Given the description of an element on the screen output the (x, y) to click on. 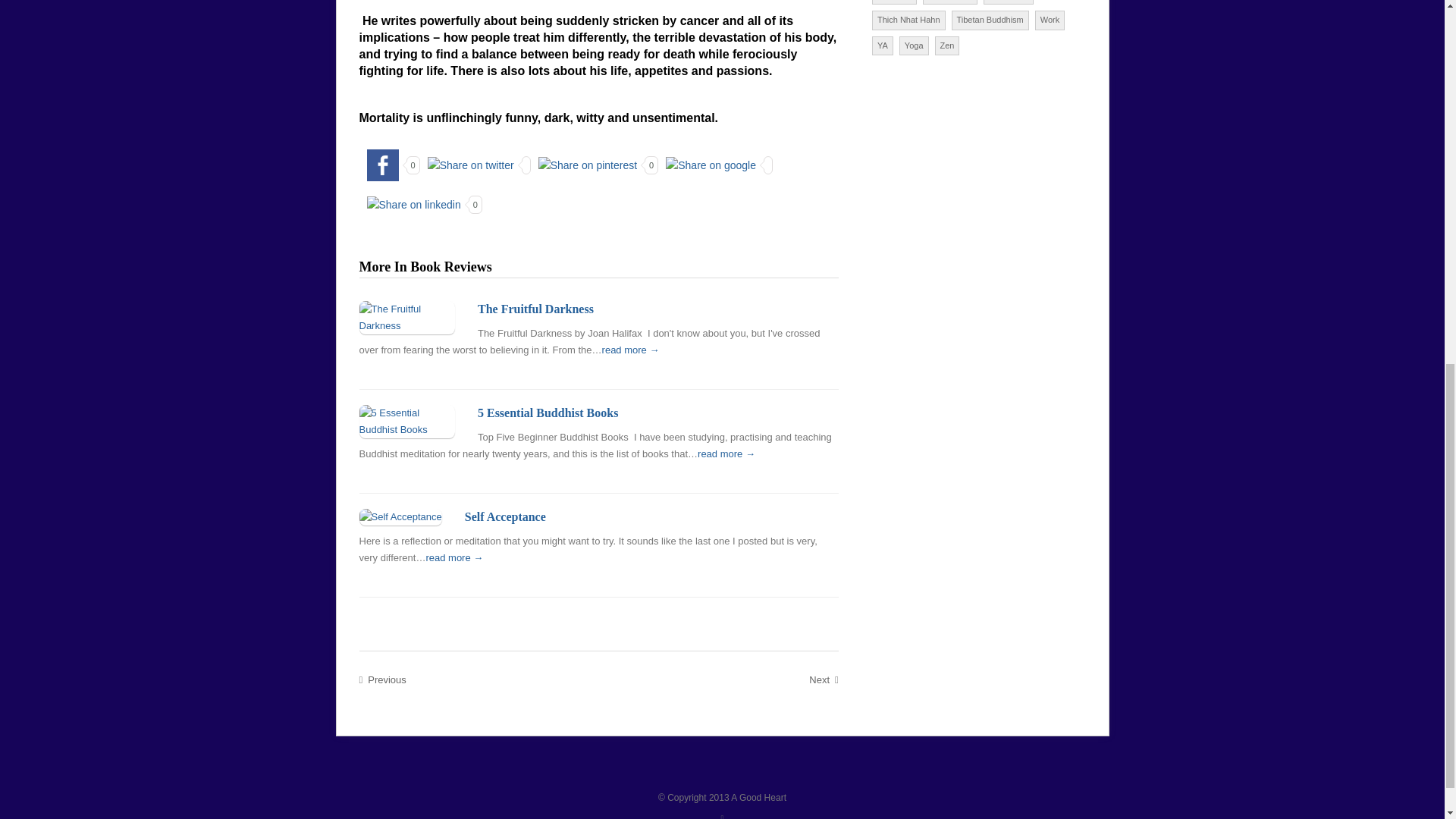
0 (595, 164)
The Fruitful Darkness (535, 308)
Previous (382, 680)
twitter (470, 164)
5 Essential Buddhist Books (547, 412)
0 (389, 164)
pinterest (588, 164)
Next (823, 680)
0 (420, 203)
facebook (382, 165)
Self Acceptance (505, 516)
